Given the description of an element on the screen output the (x, y) to click on. 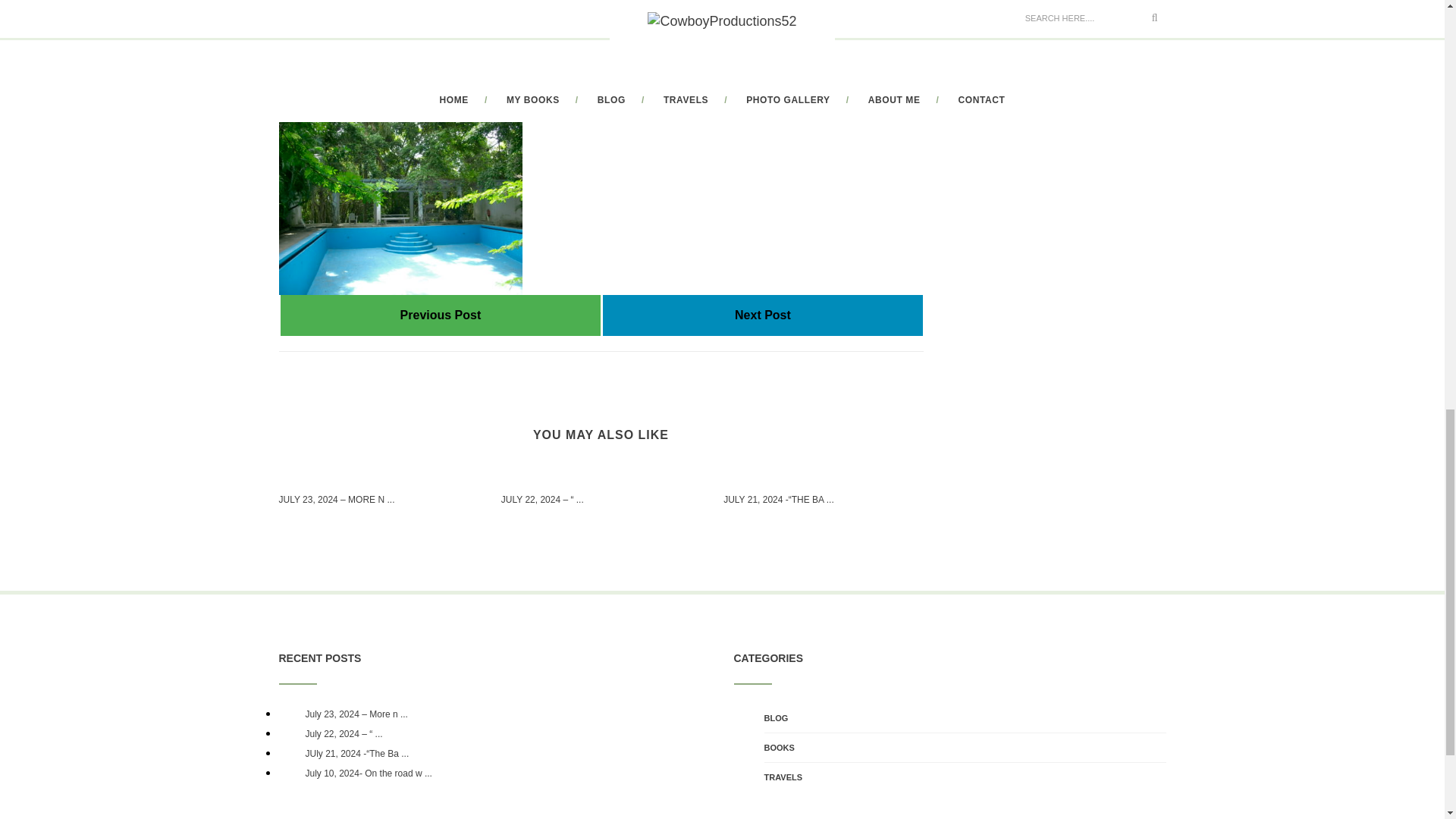
BOOKS (779, 747)
TRAVELS (783, 777)
Previous Post (441, 314)
Cuba - 2003 - The library (440, 314)
July 10, 2024- On the road w ... (493, 773)
Cuba - 2003 - Street market (761, 314)
Previous Post (440, 314)
Next Post (761, 314)
Next Post (762, 314)
BLOG (776, 717)
